Given the description of an element on the screen output the (x, y) to click on. 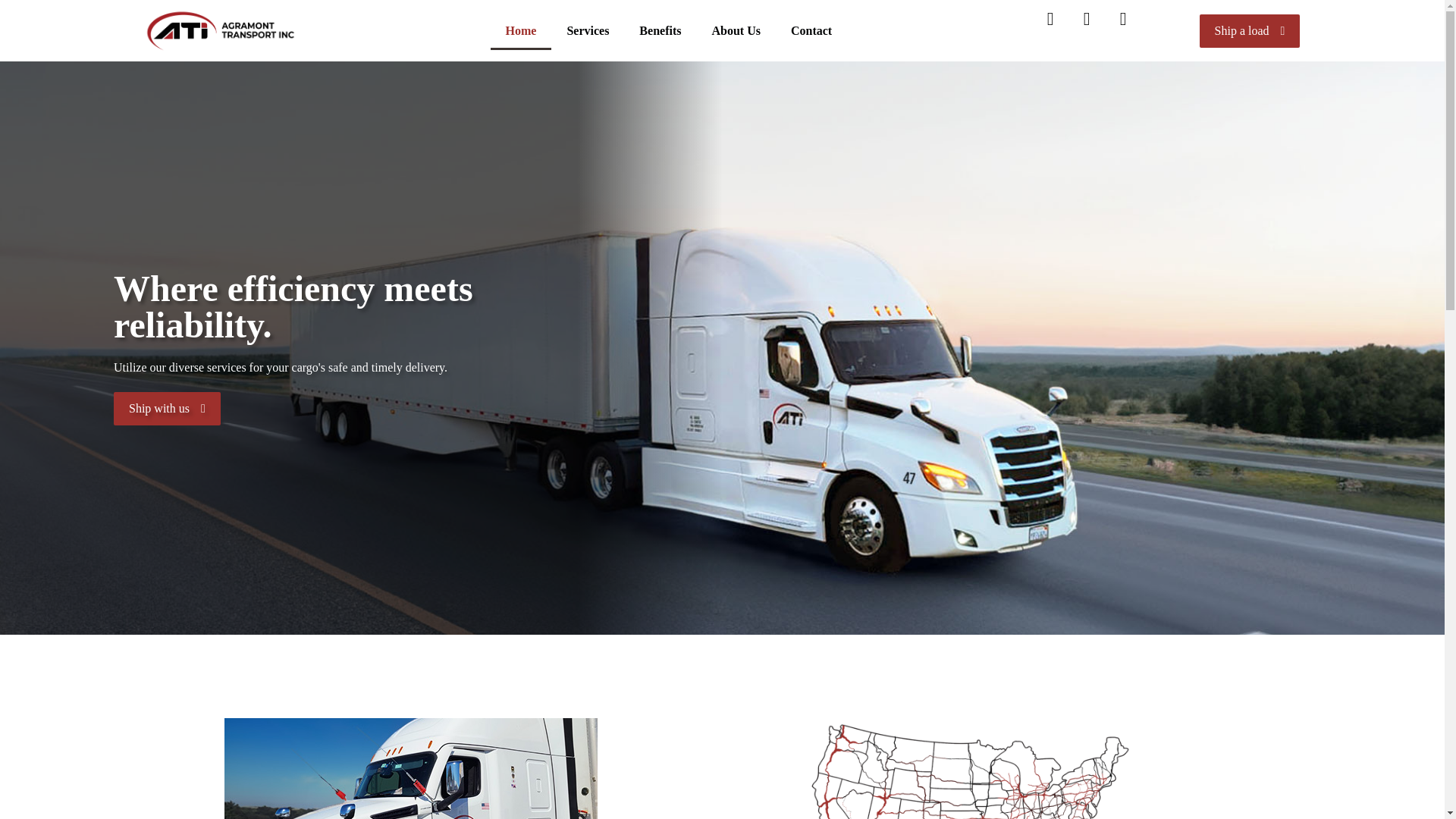
Ship with us (167, 408)
Services (587, 30)
Home (520, 30)
Ship a load (1249, 30)
Contact (811, 30)
About Us (734, 30)
Benefits (659, 30)
